Given the description of an element on the screen output the (x, y) to click on. 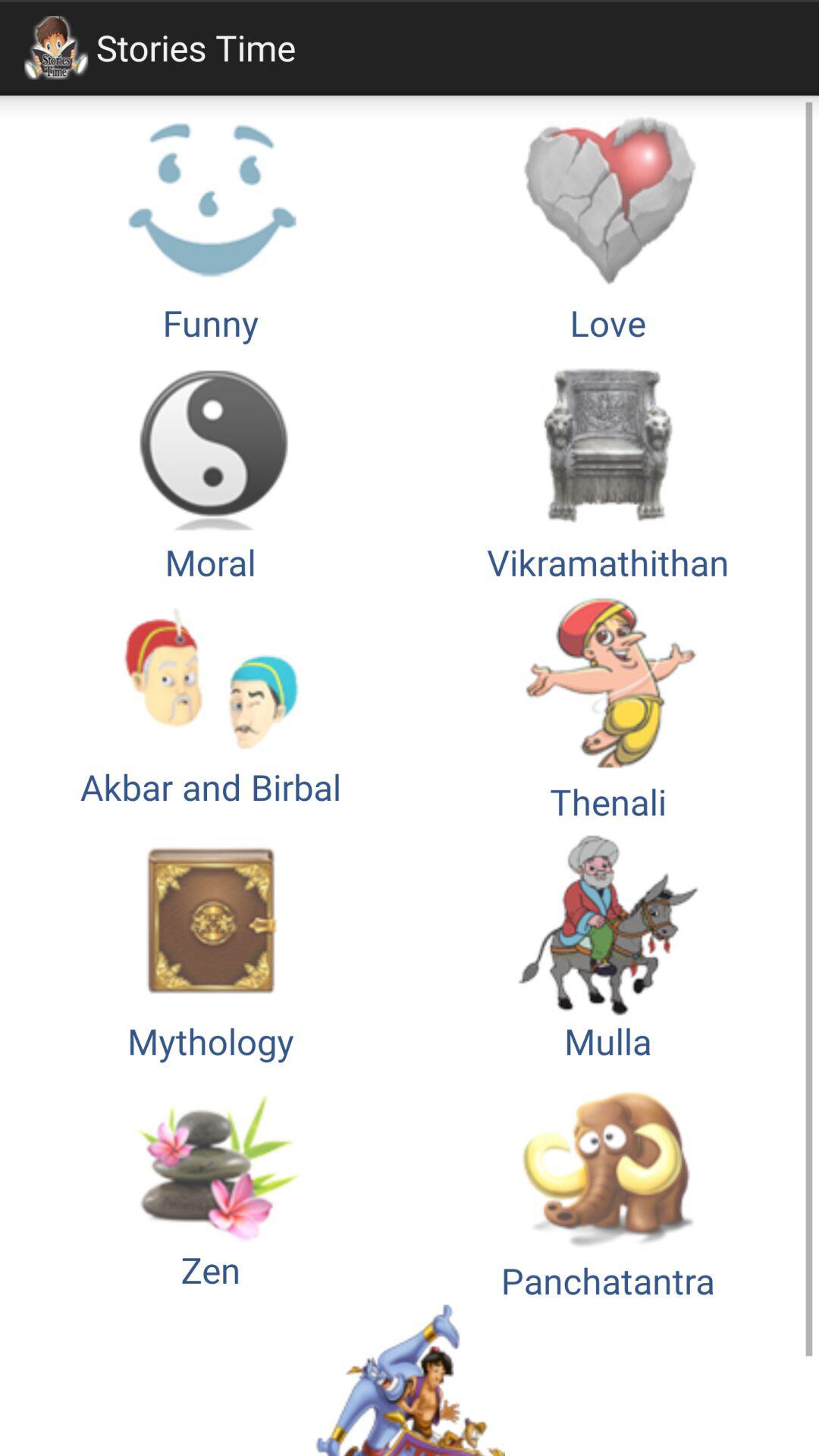
choose mulla button (608, 945)
